Given the description of an element on the screen output the (x, y) to click on. 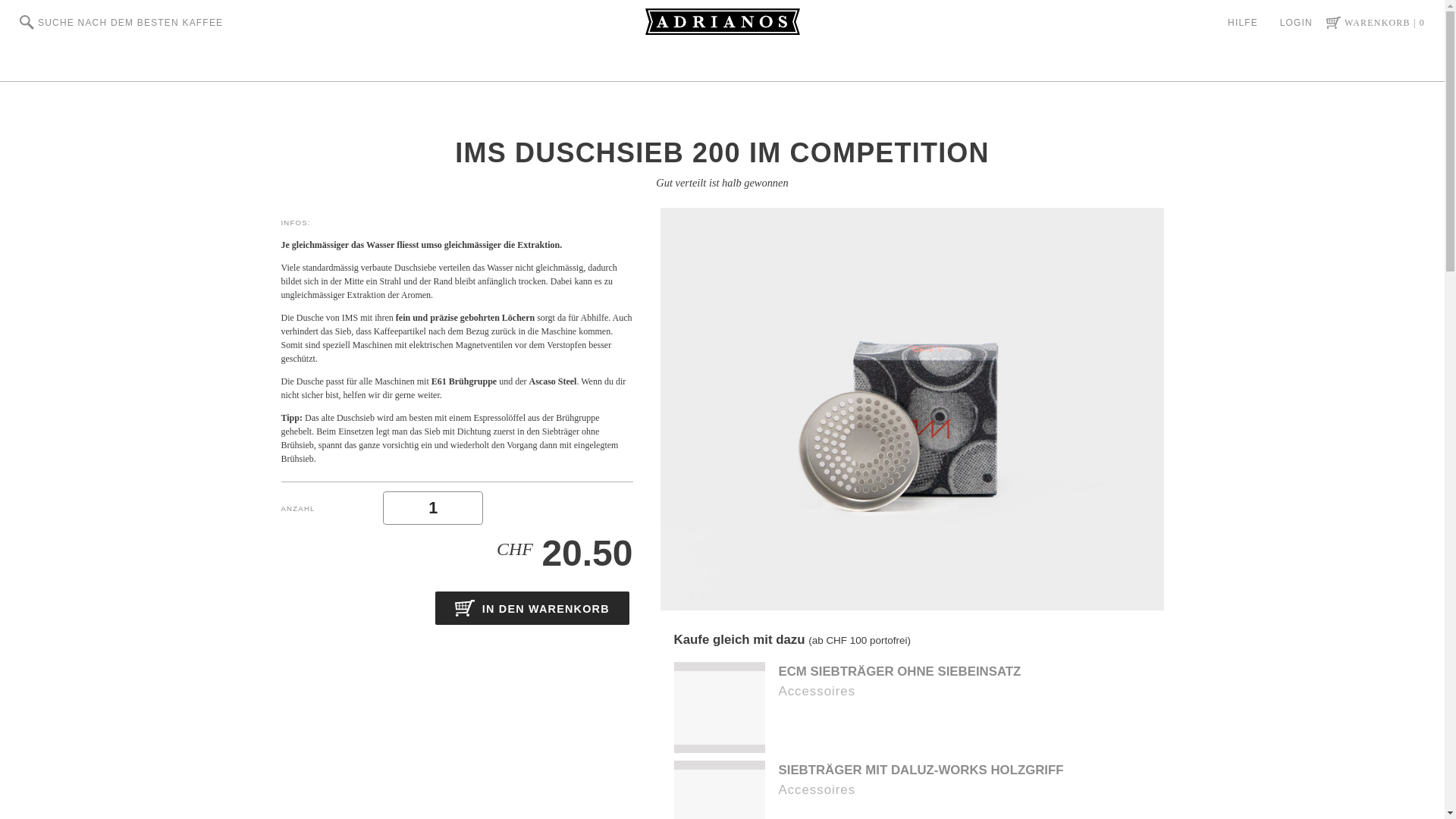
WARENKORB | 0 Element type: text (1375, 22)
HILFE Element type: text (1242, 22)
SUCHE NACH DEM BESTEN KAFFEE Element type: text (120, 22)
LOGIN Element type: text (1295, 22)
IN DEN WARENKORB Element type: text (532, 607)
